Given the description of an element on the screen output the (x, y) to click on. 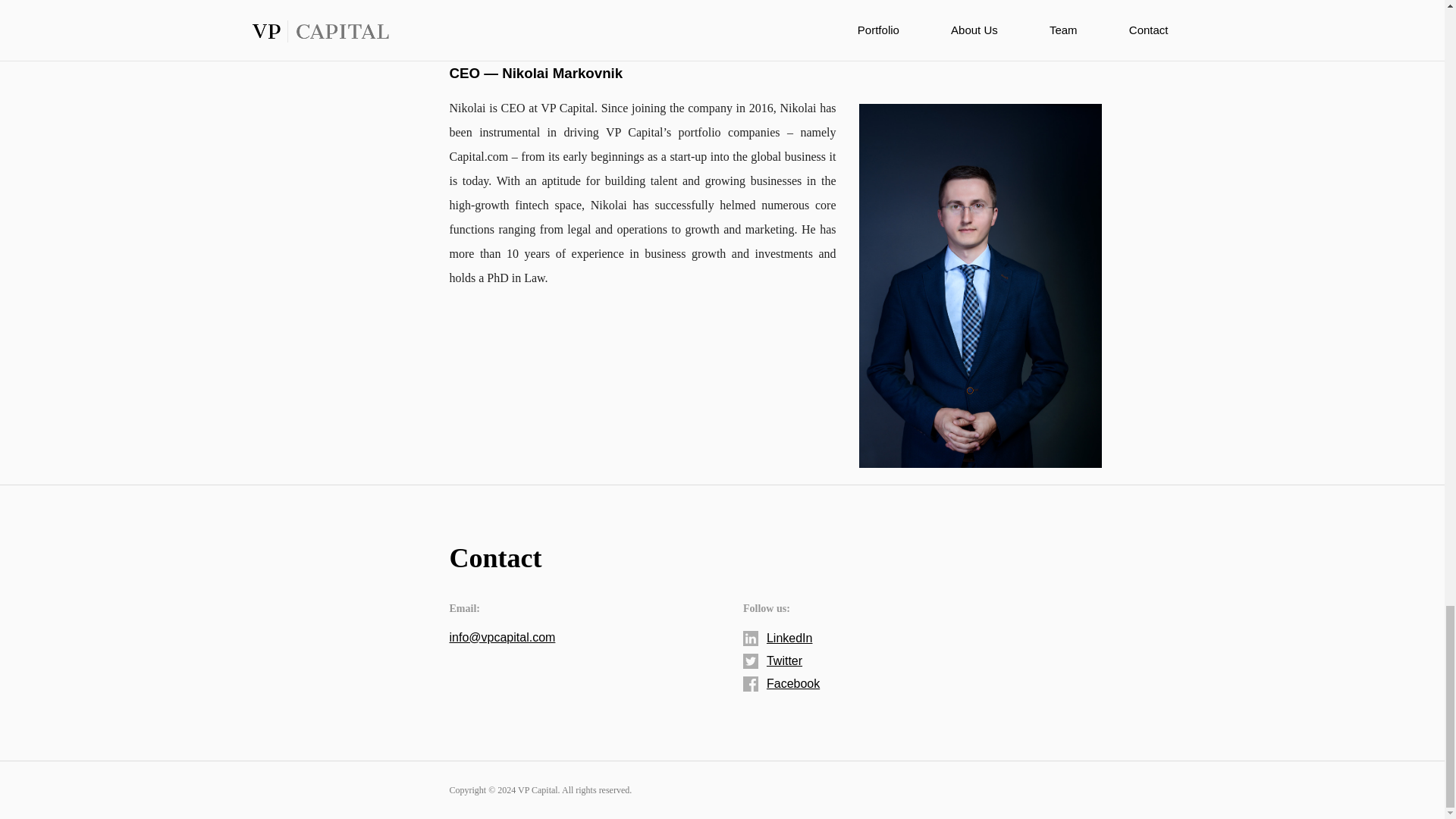
LinkedIn (777, 638)
Facebook (780, 683)
Twitter (772, 661)
